Given the description of an element on the screen output the (x, y) to click on. 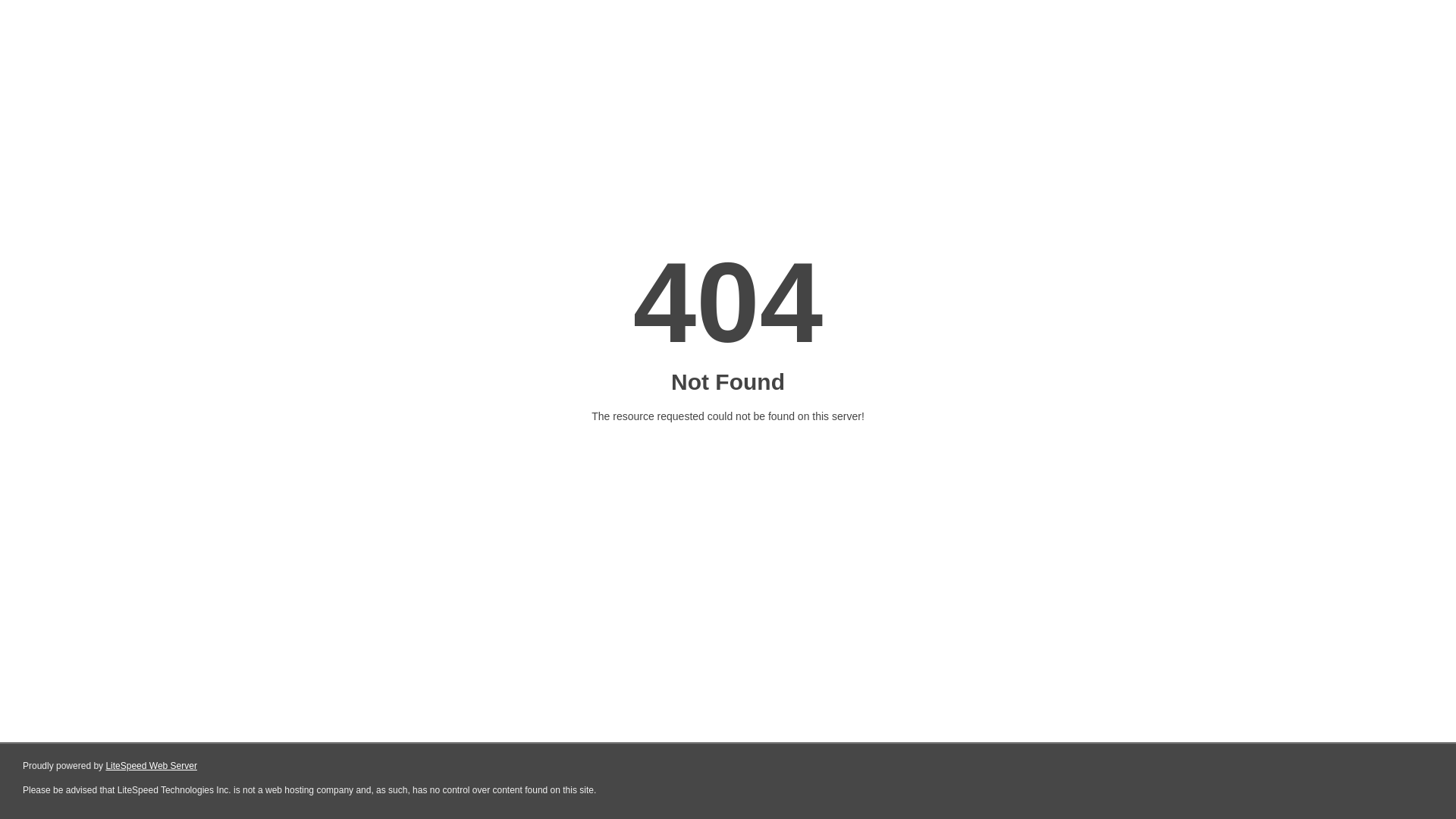
LiteSpeed Web Server Element type: text (151, 765)
